Given the description of an element on the screen output the (x, y) to click on. 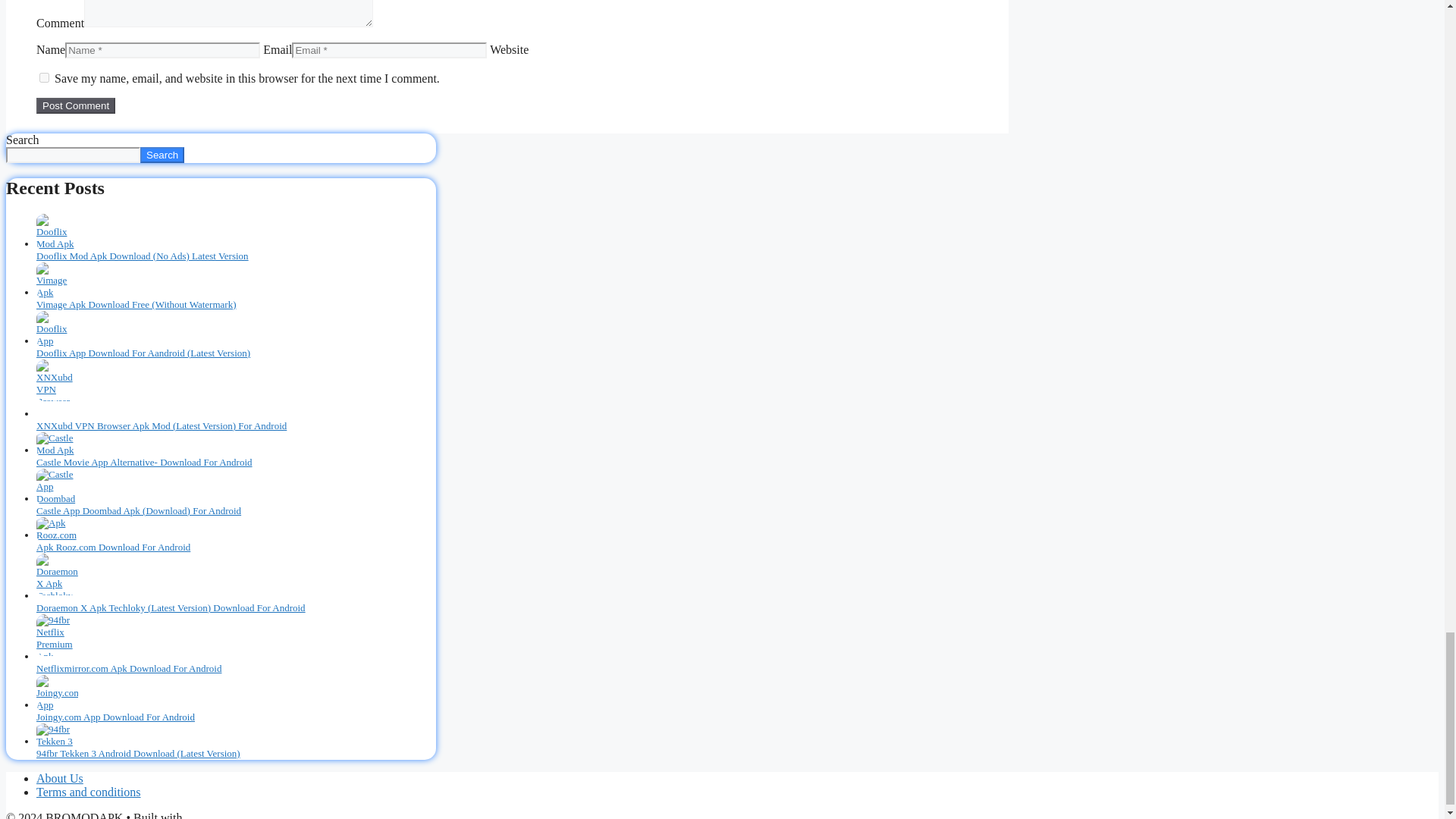
Apk Rooz.com Download For Android (113, 546)
Search (161, 154)
Post Comment (75, 105)
yes (44, 77)
Joingy.com App Download For Android (115, 716)
Post Comment (75, 105)
Castle Movie App Alternative- Download For Android (143, 461)
Netflixmirror.com Apk Download For Android (128, 668)
